Given the description of an element on the screen output the (x, y) to click on. 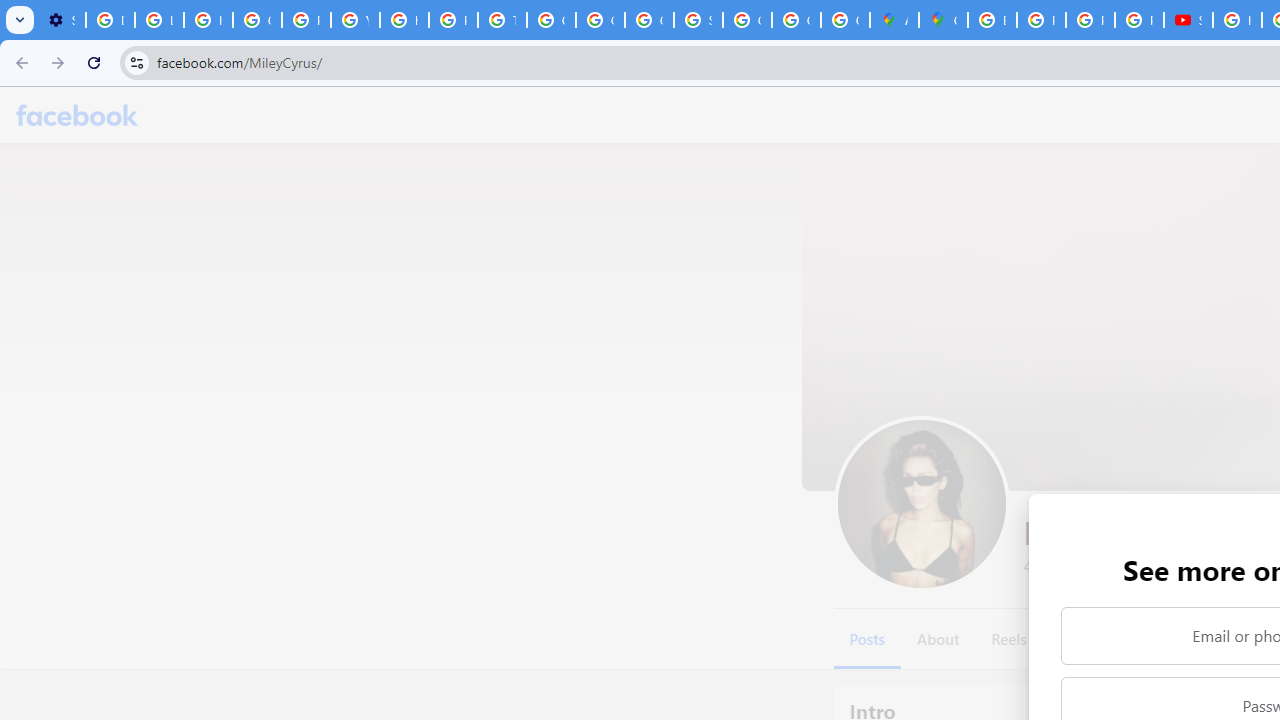
Facebook (77, 114)
Delete photos & videos - Computer - Google Photos Help (109, 20)
Google Maps (943, 20)
YouTube (355, 20)
Settings - Customize profile (61, 20)
Privacy Help Center - Policies Help (1090, 20)
https://scholar.google.com/ (404, 20)
